Given the description of an element on the screen output the (x, y) to click on. 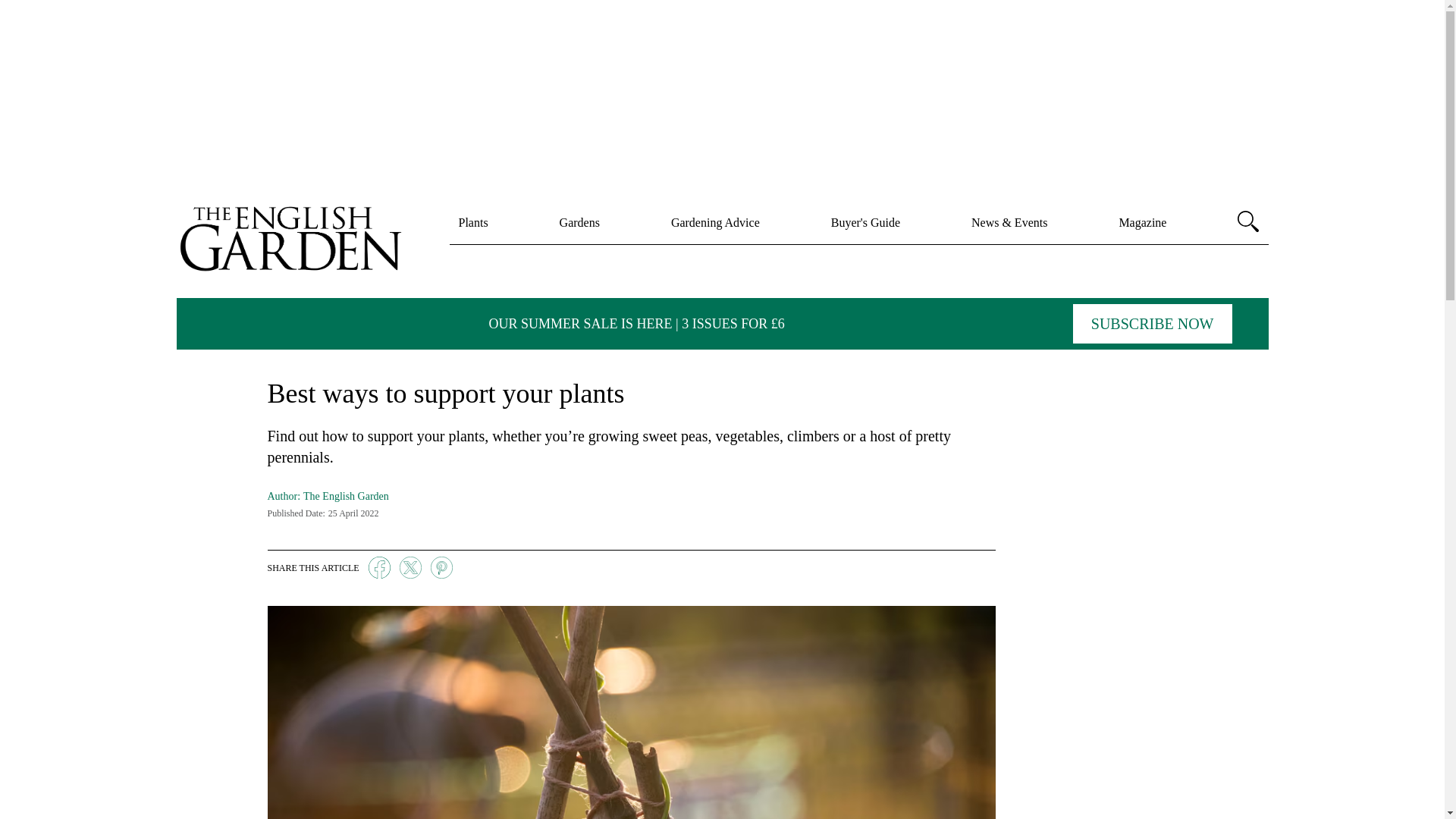
Buyer's Guide (865, 222)
SUBSCRIBE NOW (1152, 323)
Gardens (579, 222)
Gardening Advice (715, 222)
Plants (472, 222)
Magazine (1142, 222)
